Given the description of an element on the screen output the (x, y) to click on. 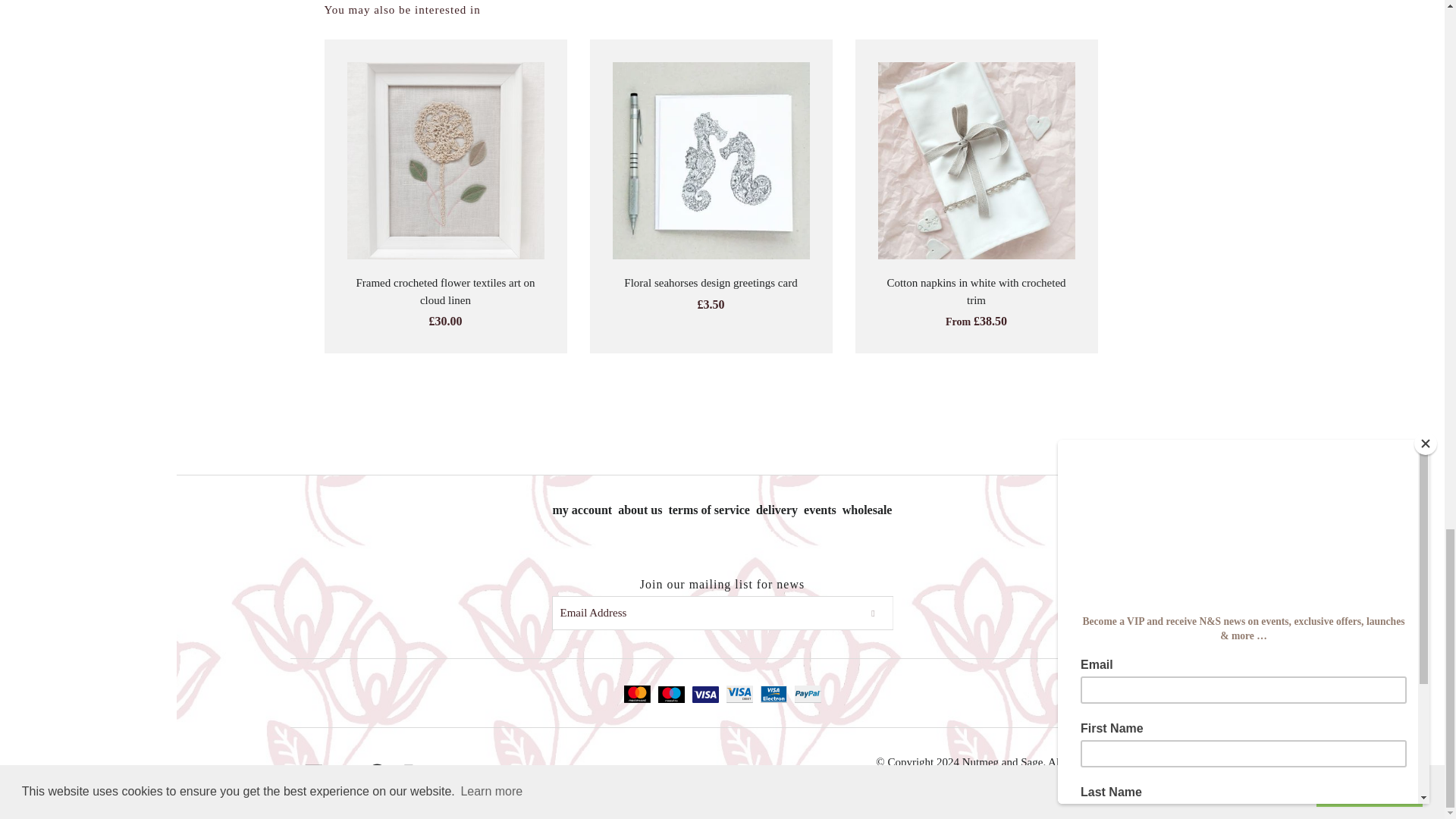
twitter (344, 772)
trade enquiries (867, 509)
Cotton napkins in white with crocheted trim (975, 291)
Floral seahorses design greetings card (710, 282)
Framed crocheted flower textiles art on cloud linen (444, 291)
twitter (344, 772)
pinterest (376, 772)
pinterest (376, 772)
